Given the description of an element on the screen output the (x, y) to click on. 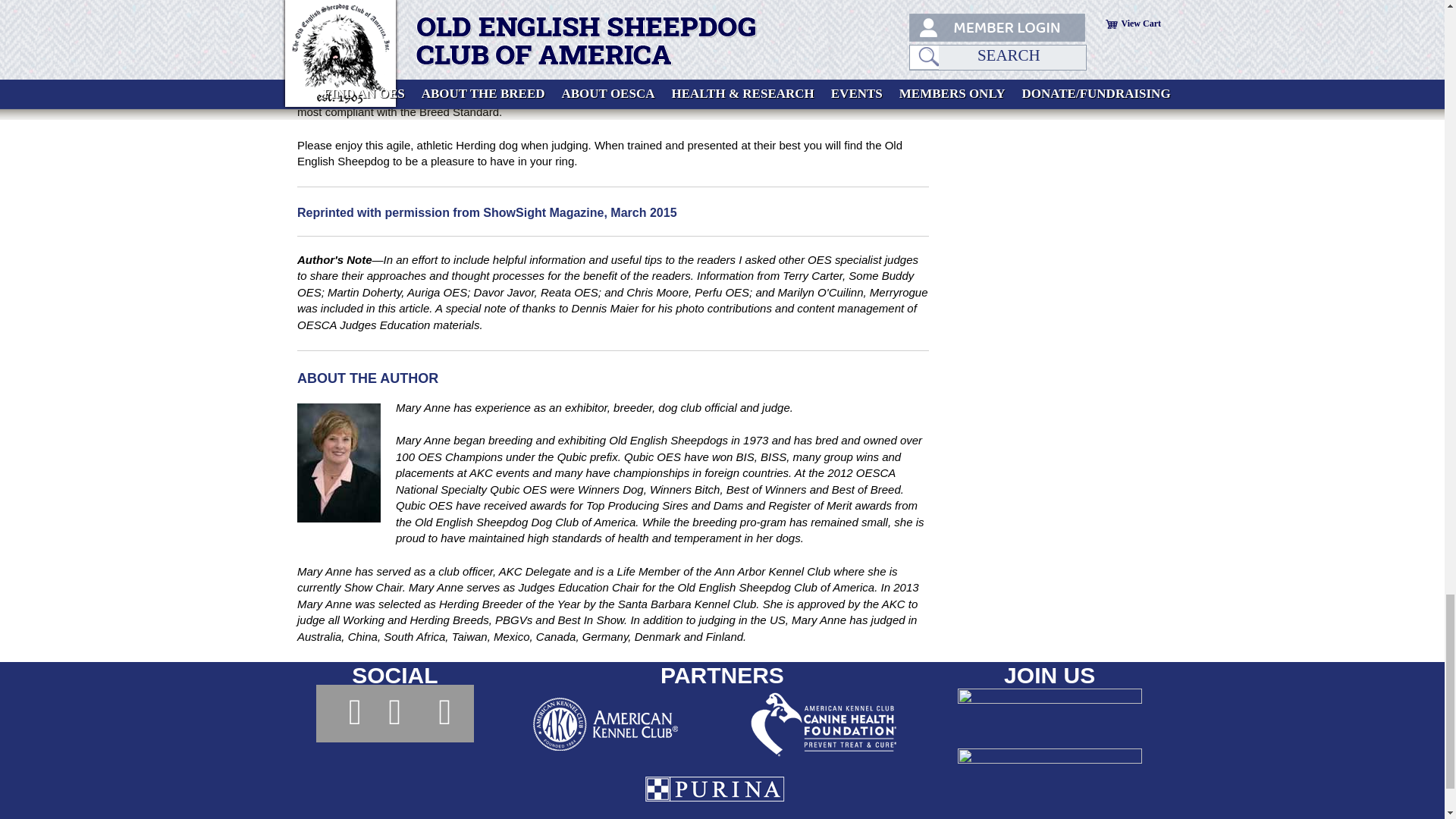
Instagram (394, 713)
Twitter (445, 713)
Facebook (344, 713)
